Given the description of an element on the screen output the (x, y) to click on. 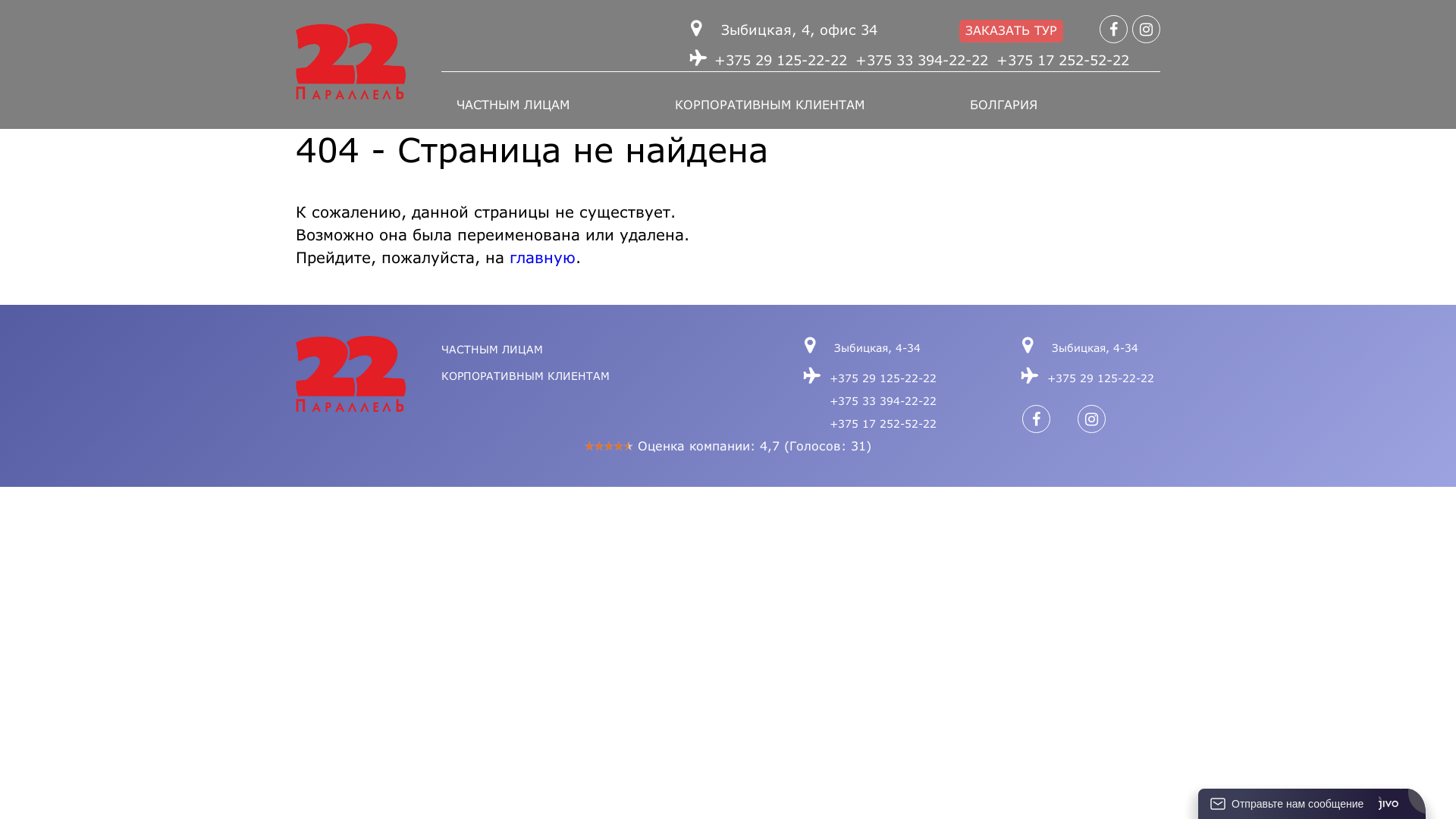
+375 29 125-22-22 Element type: text (1100, 377)
+375 33 394-22-22 Element type: text (882, 400)
+375 17 252-52-22 Element type: text (1062, 59)
+375 17 252-52-22 Element type: text (882, 423)
+375 29 125-22-22 Element type: text (780, 59)
+375 29 125-22-22 Element type: text (882, 377)
+375 33 394-22-22 Element type: text (921, 59)
